Given the description of an element on the screen output the (x, y) to click on. 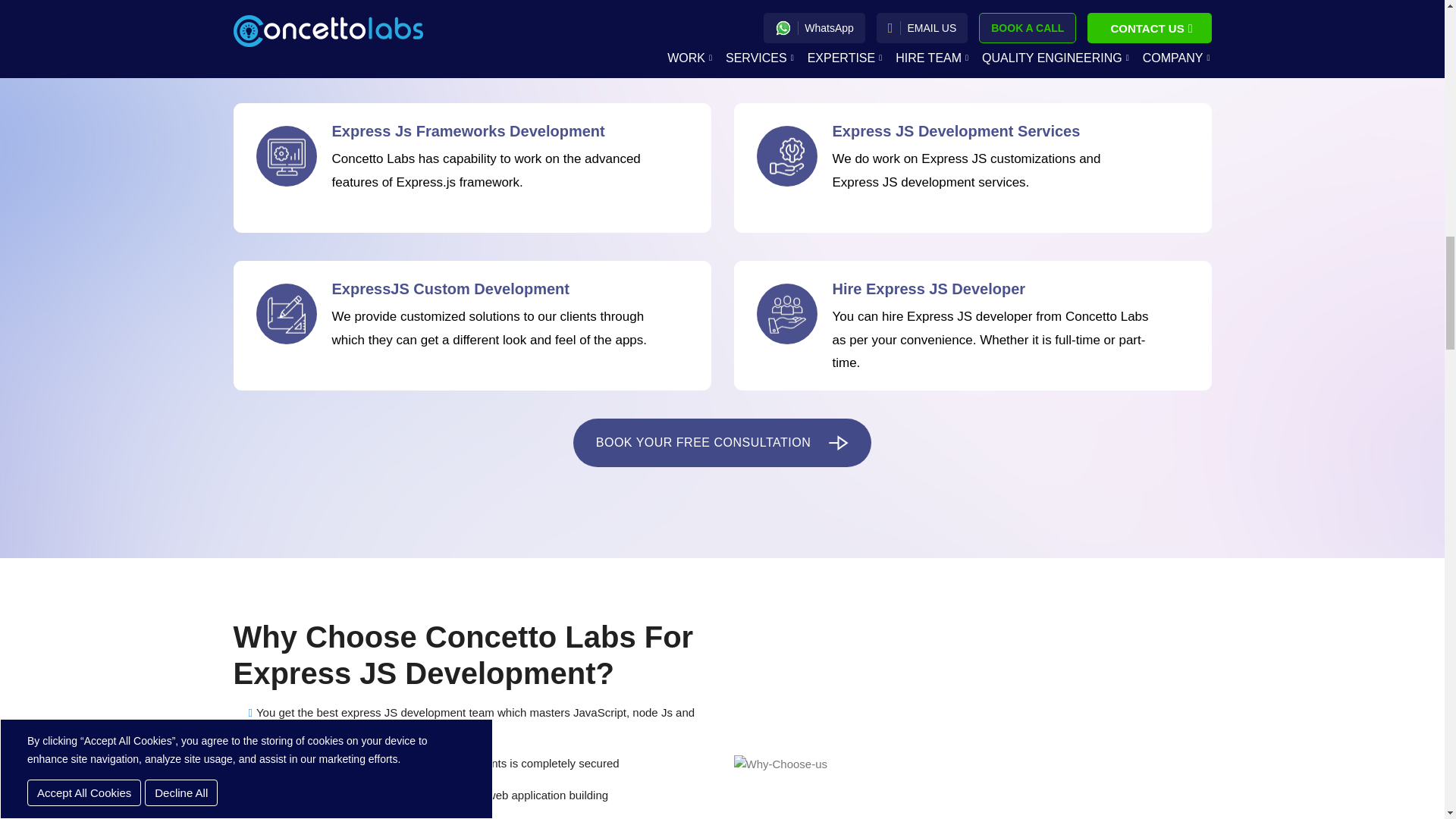
Why-Choose-us (780, 764)
